Given the description of an element on the screen output the (x, y) to click on. 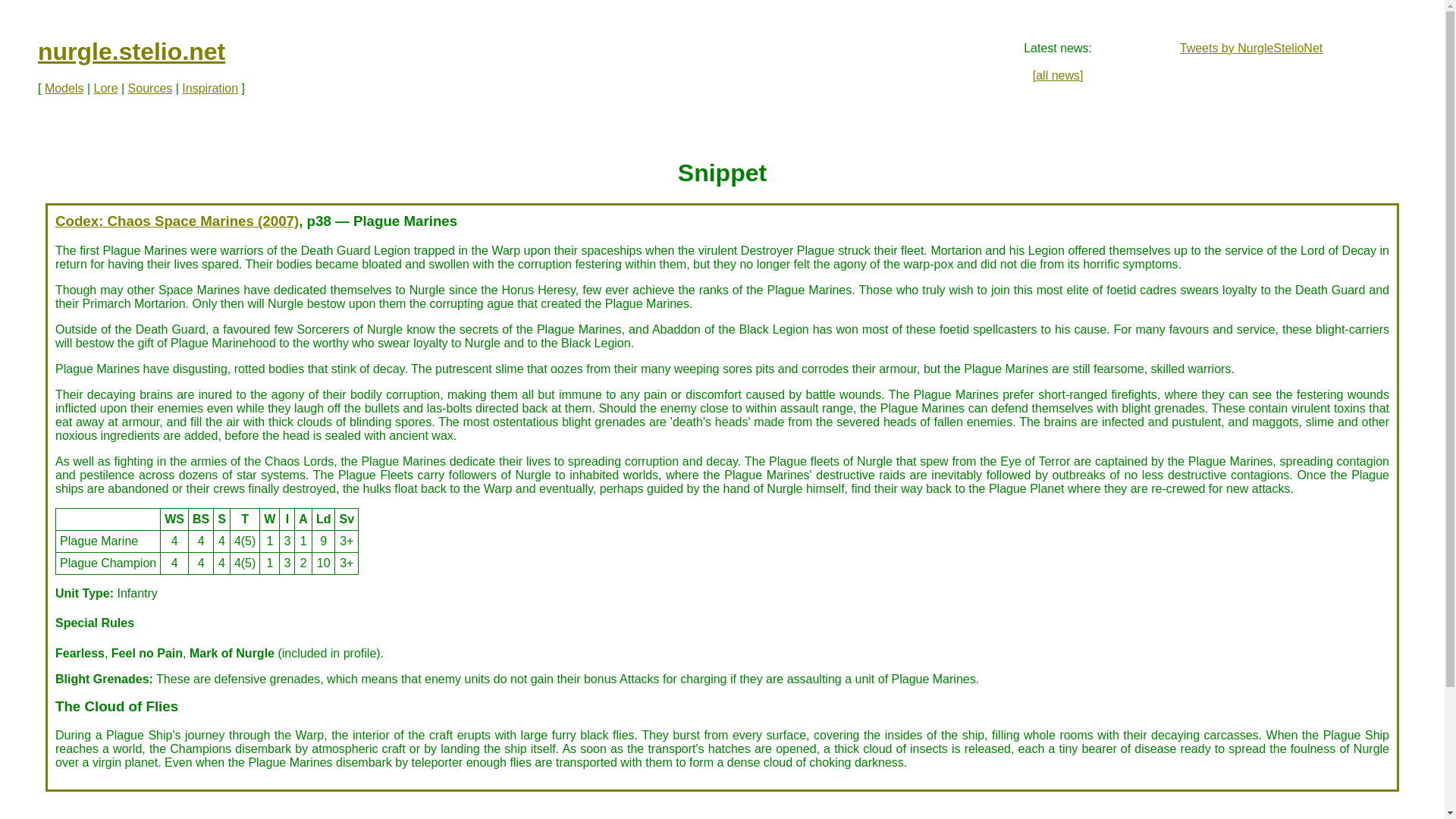
Sources (150, 88)
Tweets by NurgleStelioNet (1251, 47)
Models (64, 88)
Inspiration (210, 88)
nurgle.stelio.net (131, 51)
Lore (105, 88)
